Given the description of an element on the screen output the (x, y) to click on. 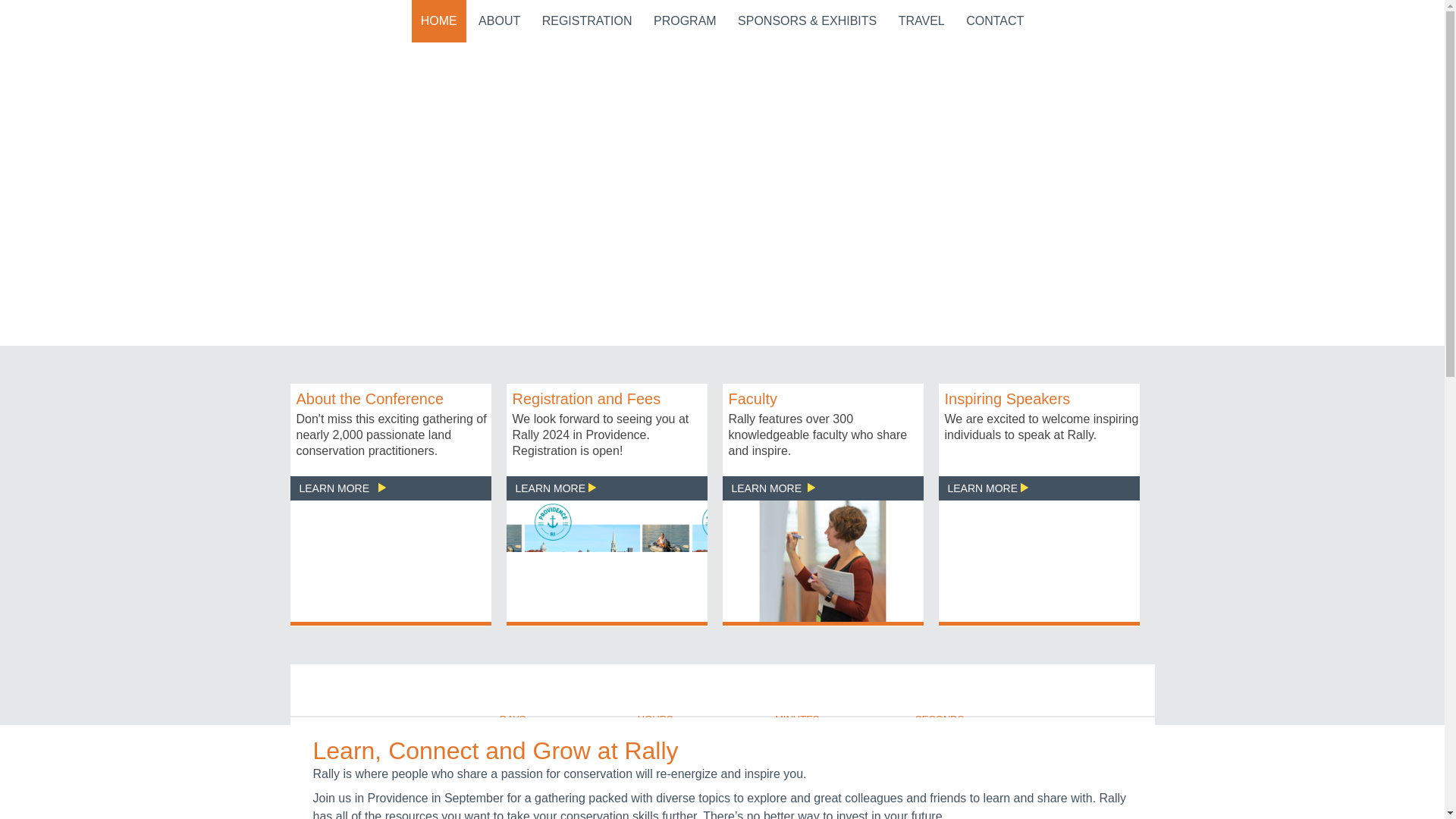
LEARN MORE  (555, 488)
ABOUT (498, 21)
REGISTRATION (587, 21)
LEARN MORE  (771, 488)
PROGRAM (685, 21)
LEARN MORE   (341, 488)
CONTACT (994, 21)
HOME (438, 21)
LEARN MORE (987, 488)
TRAVEL (921, 21)
